Given the description of an element on the screen output the (x, y) to click on. 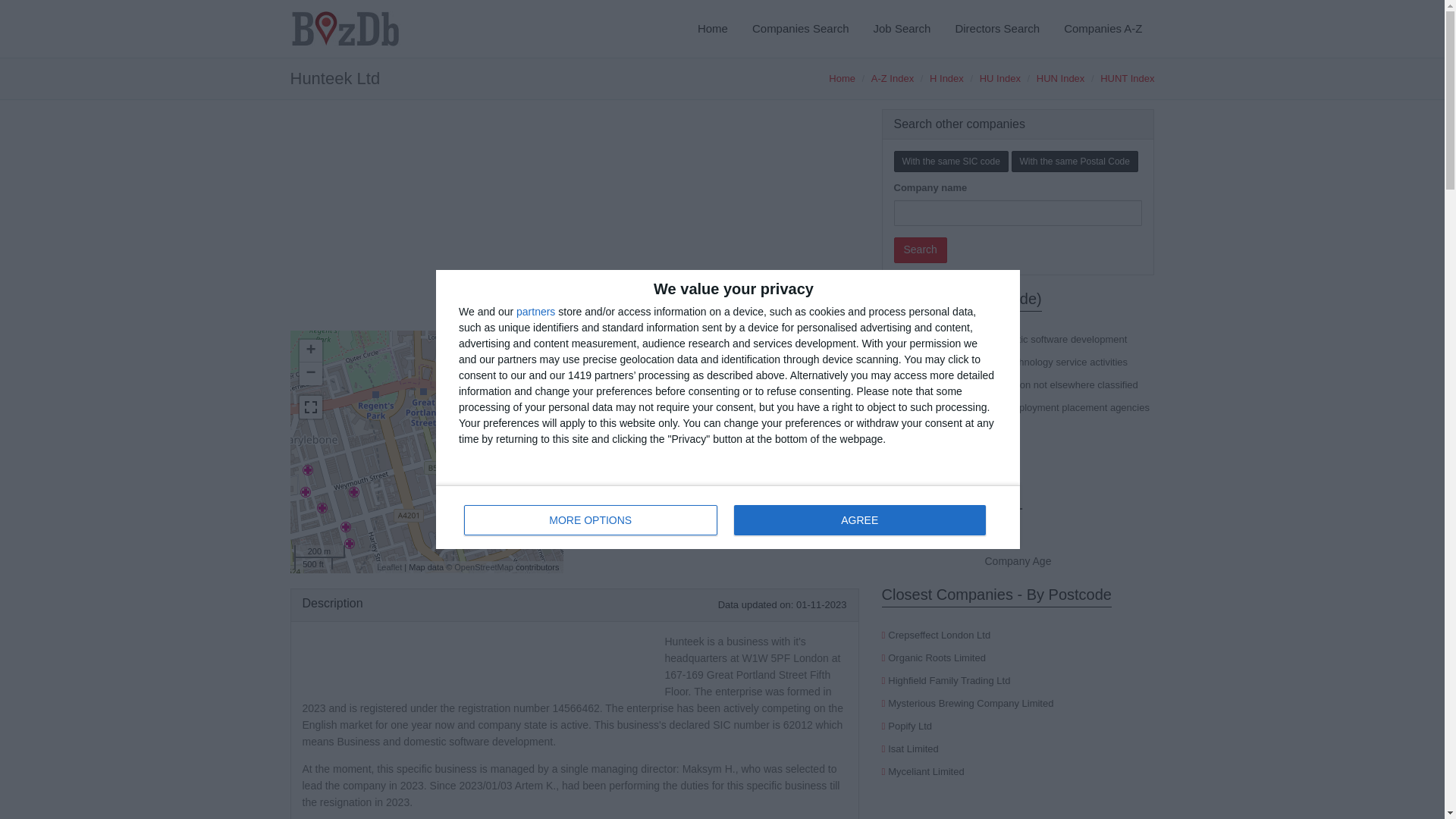
With the same Postal Code (1074, 160)
Zoom out (309, 373)
Search (919, 249)
A JS library for interactive maps (389, 566)
A-Z Index (892, 78)
Zoom in (309, 350)
View Fullscreen (309, 406)
Mysterious Brewing Company Limited (970, 703)
OpenStreetMap (483, 566)
